Given the description of an element on the screen output the (x, y) to click on. 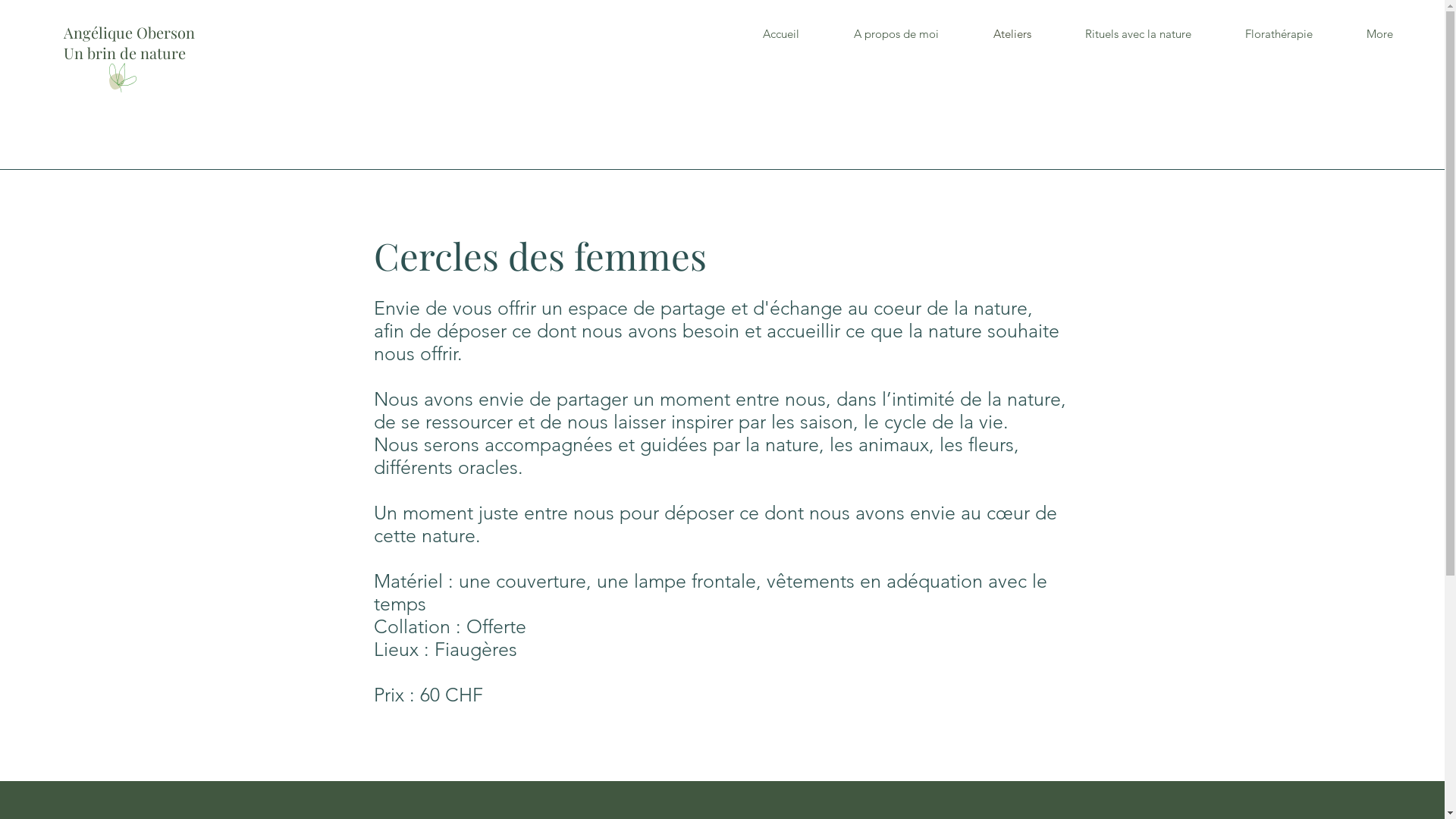
Accueil Element type: text (780, 33)
Rituels avec la nature Element type: text (1137, 33)
A propos de moi Element type: text (896, 33)
Ateliers Element type: text (1011, 33)
